Given the description of an element on the screen output the (x, y) to click on. 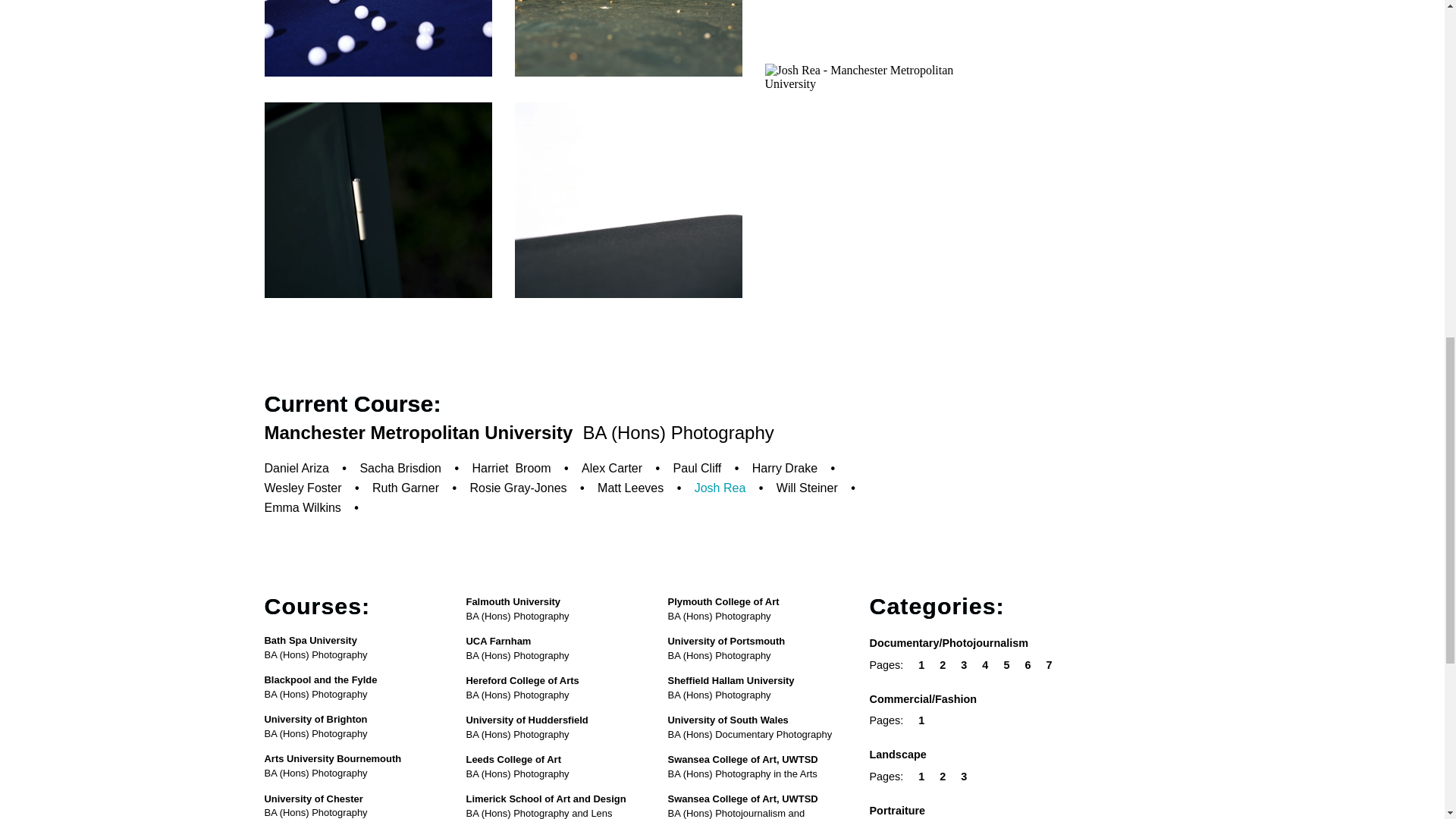
Harriet  Broom (510, 468)
Emma Wilkins (301, 507)
Matt Leeves (629, 487)
Will Steiner (807, 487)
Paul Cliff (697, 468)
Ruth Garner (405, 487)
Harry Drake (784, 468)
Alex Carter (611, 468)
Rosie Gray-Jones (518, 487)
Daniel Ariza (296, 468)
Sacha Brisdion (400, 468)
Wesley Foster (301, 487)
Josh Rea (719, 487)
